Given the description of an element on the screen output the (x, y) to click on. 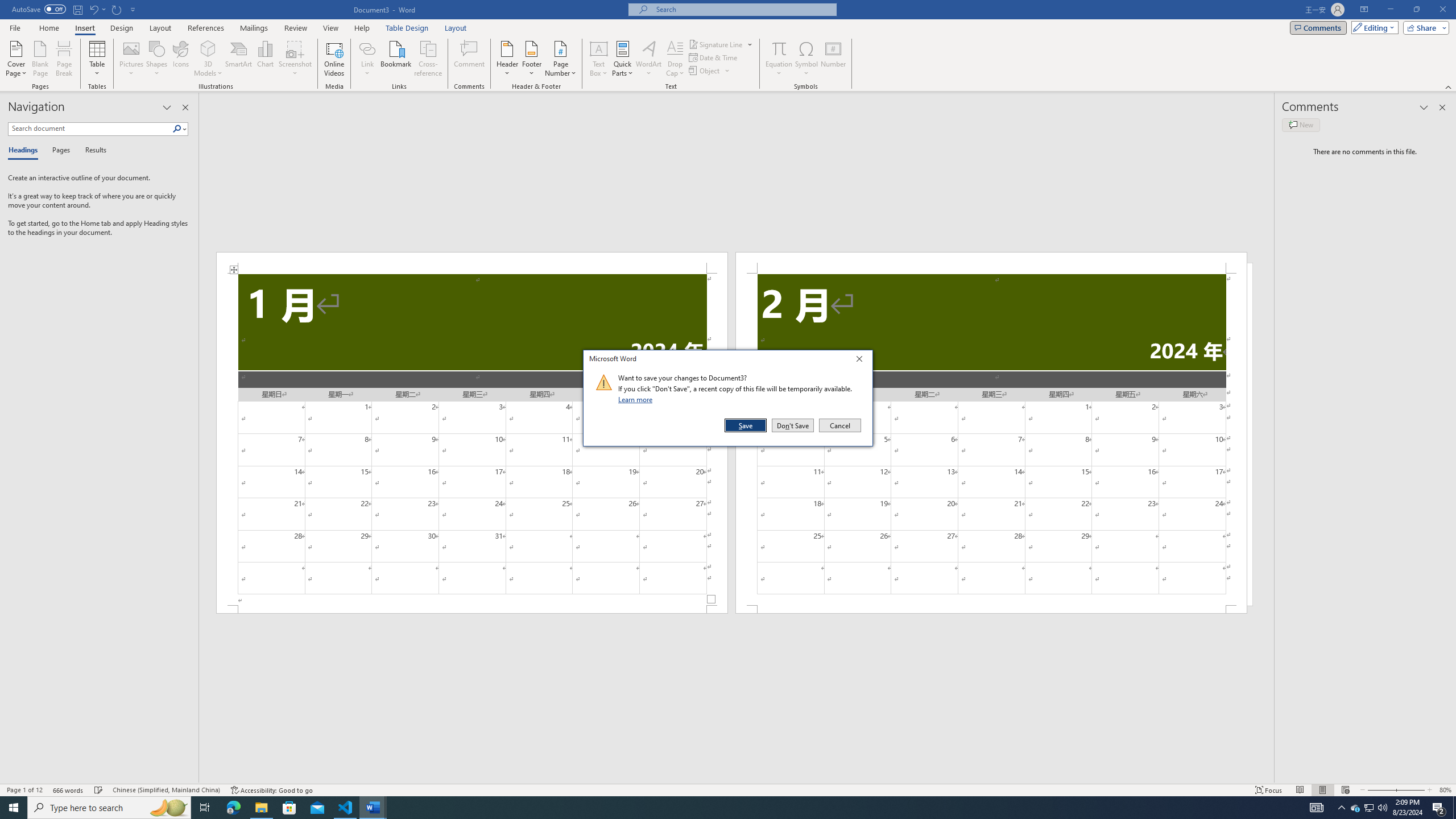
Icons (180, 58)
Don't Save (792, 425)
File Explorer - 1 running window (261, 807)
Results (91, 150)
Notification Chevron (1341, 807)
Start (1368, 807)
Show desktop (13, 807)
Zoom In (1454, 807)
Blank Page (1408, 790)
Repeat Doc Close (40, 58)
Microsoft search (117, 9)
Collapse the Ribbon (742, 9)
